Given the description of an element on the screen output the (x, y) to click on. 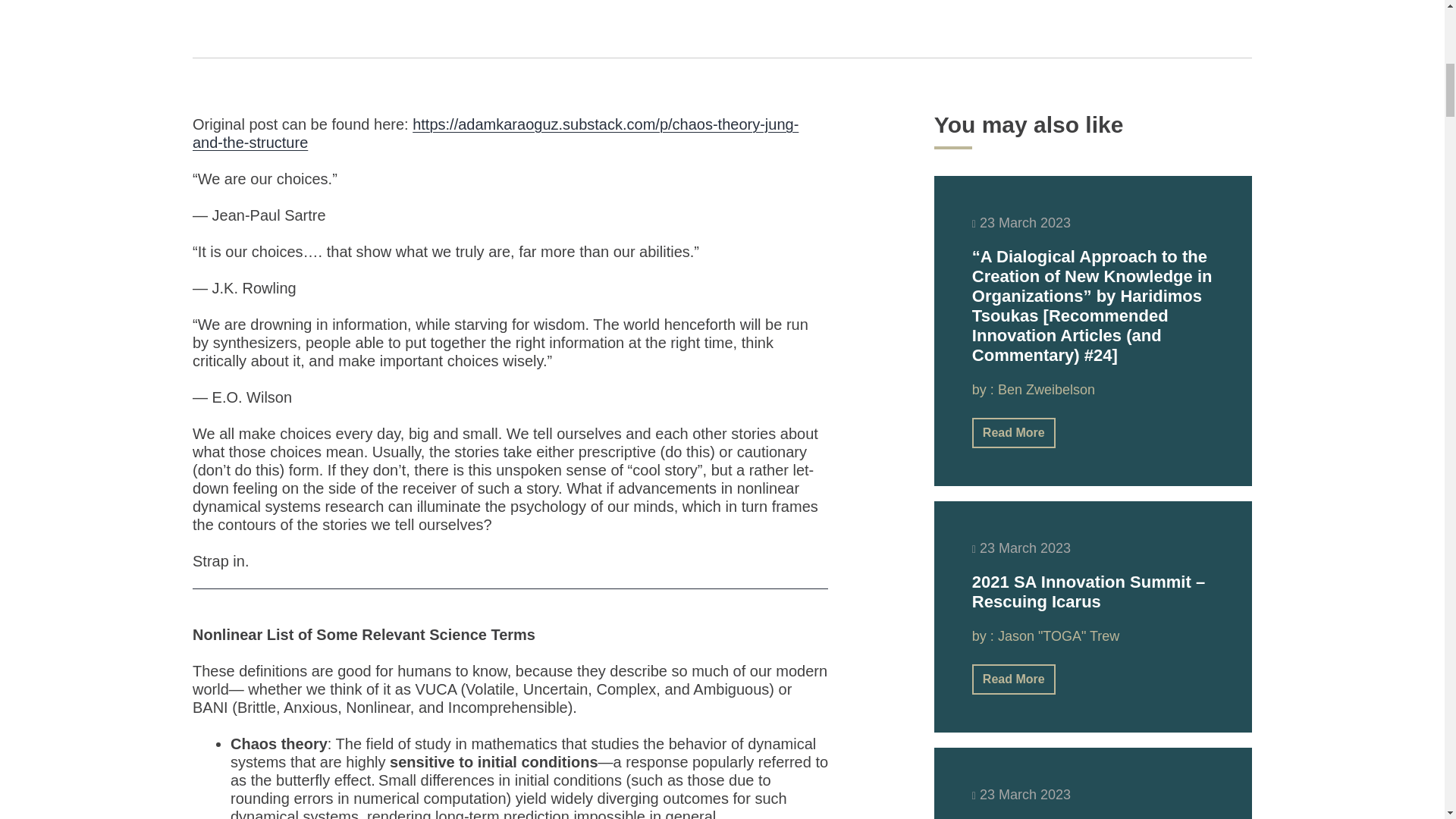
Read More (1013, 678)
Jason "TOGA" Trew (1058, 635)
Posts by Jason "TOGA" Trew (1058, 635)
Ben Zweibelson (1045, 389)
Read More (1013, 432)
Posts by Ben Zweibelson (1045, 389)
